Given the description of an element on the screen output the (x, y) to click on. 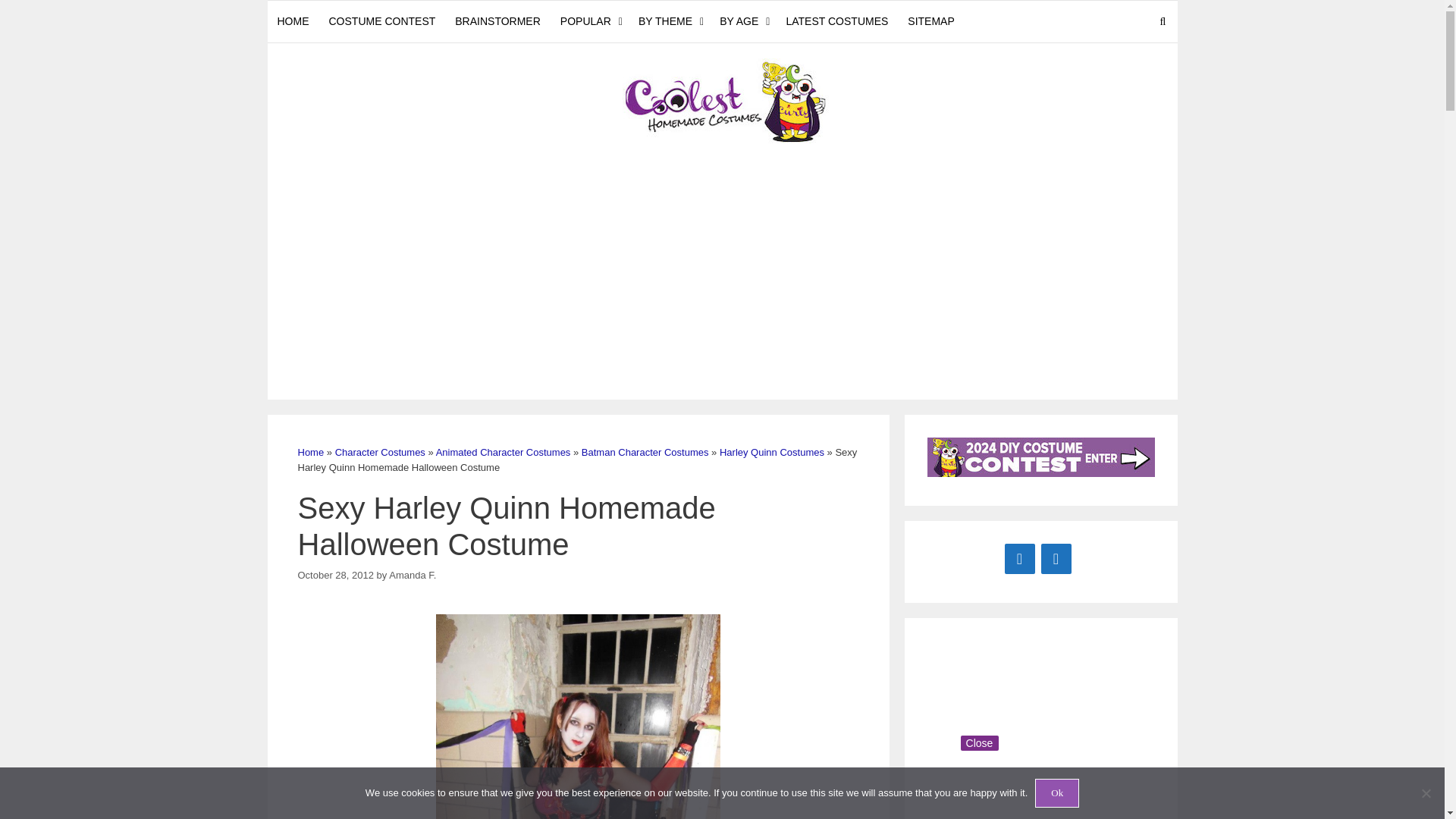
BRAINSTORMER (497, 21)
LATEST COSTUMES (837, 21)
Instagram (1055, 557)
POPULAR (589, 21)
3rd party ad content (987, 729)
Facebook (1018, 557)
BY THEME (669, 21)
View all posts by Amanda F. (411, 573)
SITEMAP (930, 21)
BY AGE (743, 21)
HOME (292, 21)
COSTUME CONTEST (381, 21)
